Given the description of an element on the screen output the (x, y) to click on. 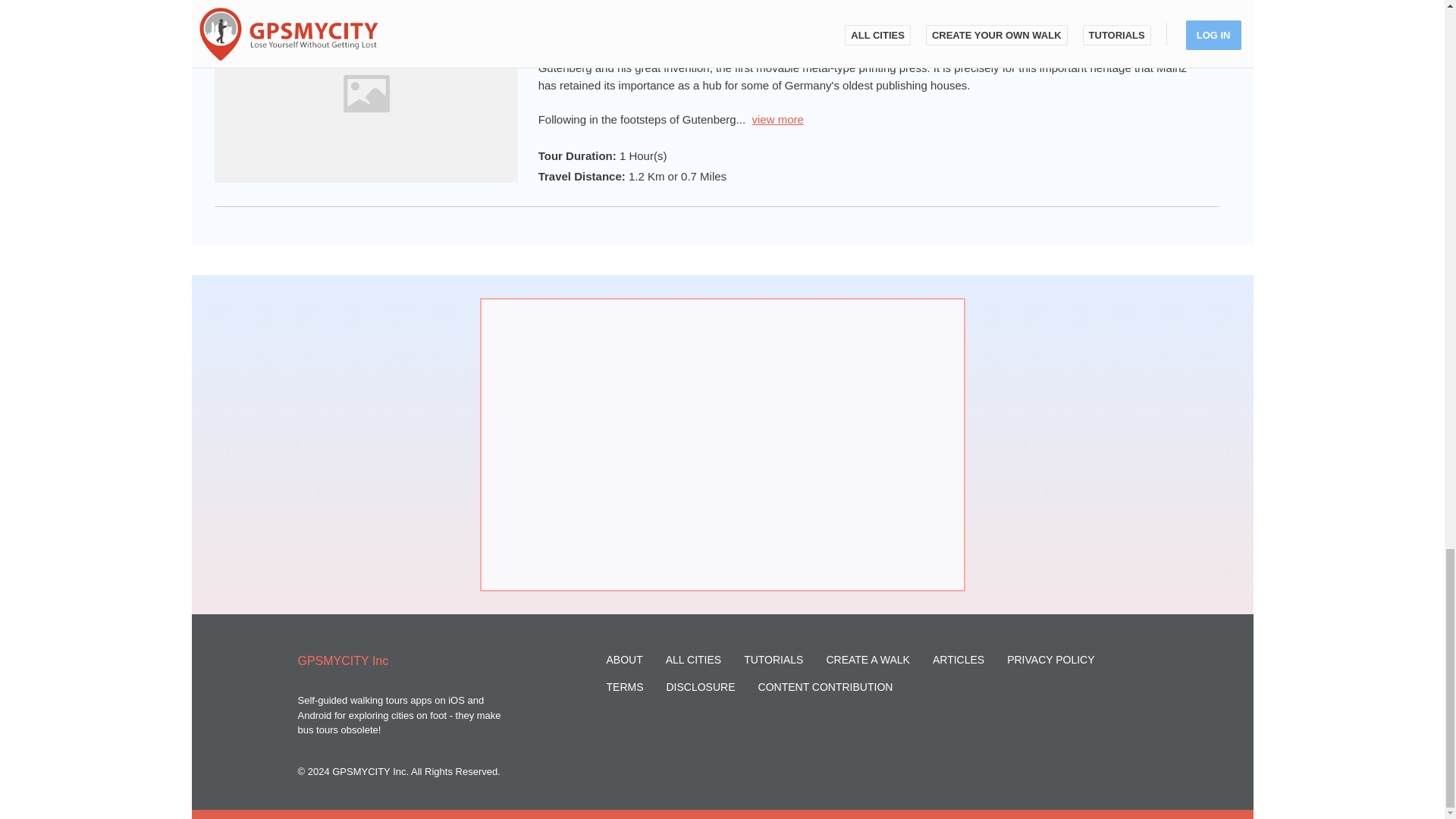
CREATE A WALK (866, 659)
ARTICLES (958, 659)
view more (777, 119)
TUTORIALS (773, 659)
PRIVACY POLICY (1050, 659)
GPSmyCity on Facebook (1107, 746)
ALL CITIES (692, 659)
ABOUT (625, 659)
GPSmyCity on Pinterest (1142, 746)
In the Footsteps of Gutenberg (624, 33)
